Given the description of an element on the screen output the (x, y) to click on. 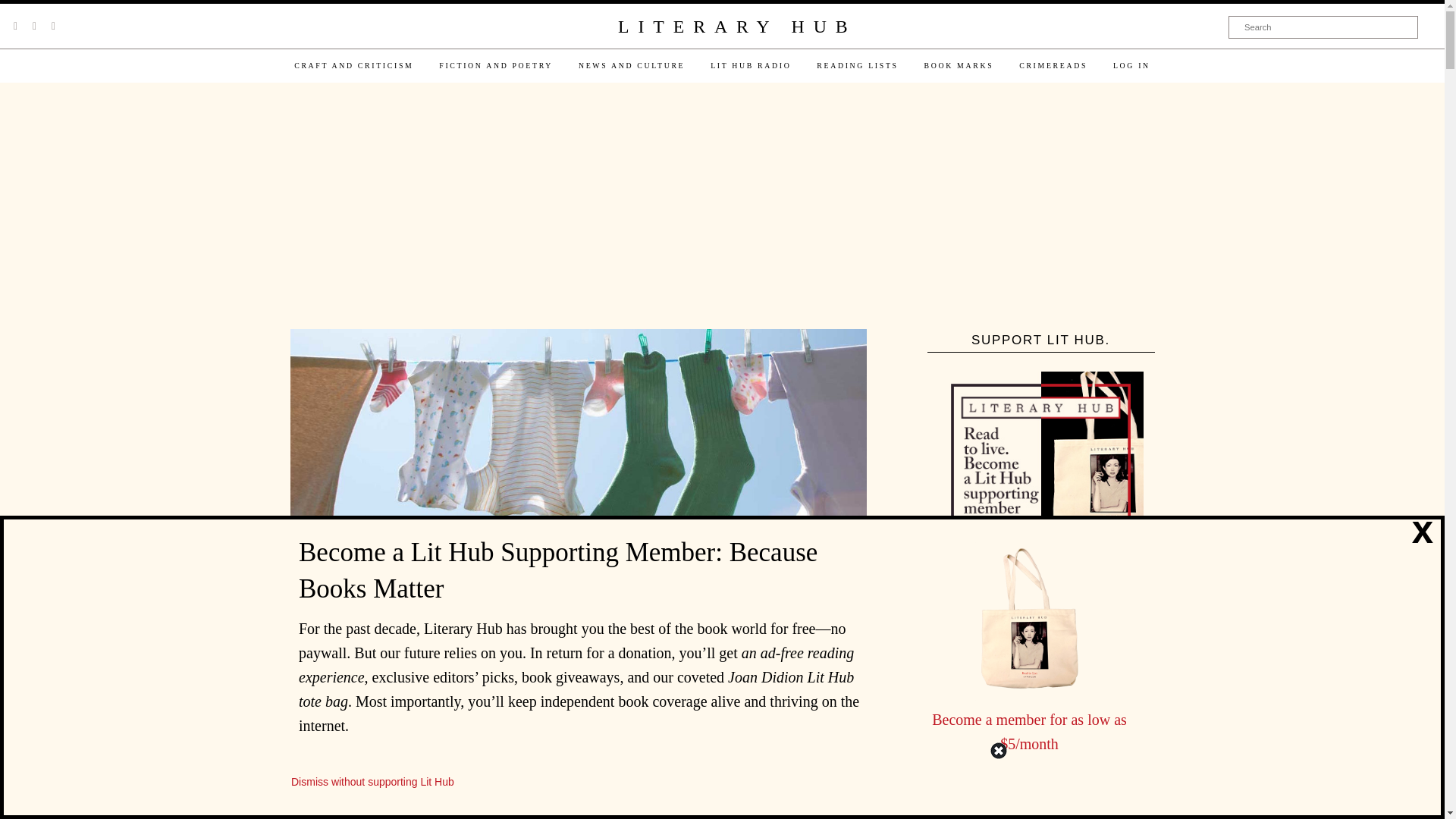
FICTION AND POETRY (496, 65)
Support Lit Hub. (1040, 473)
3rd party ad content (721, 207)
NEWS AND CULTURE (631, 65)
Search (1323, 26)
LITERARY HUB (736, 26)
CRAFT AND CRITICISM (353, 65)
